Given the description of an element on the screen output the (x, y) to click on. 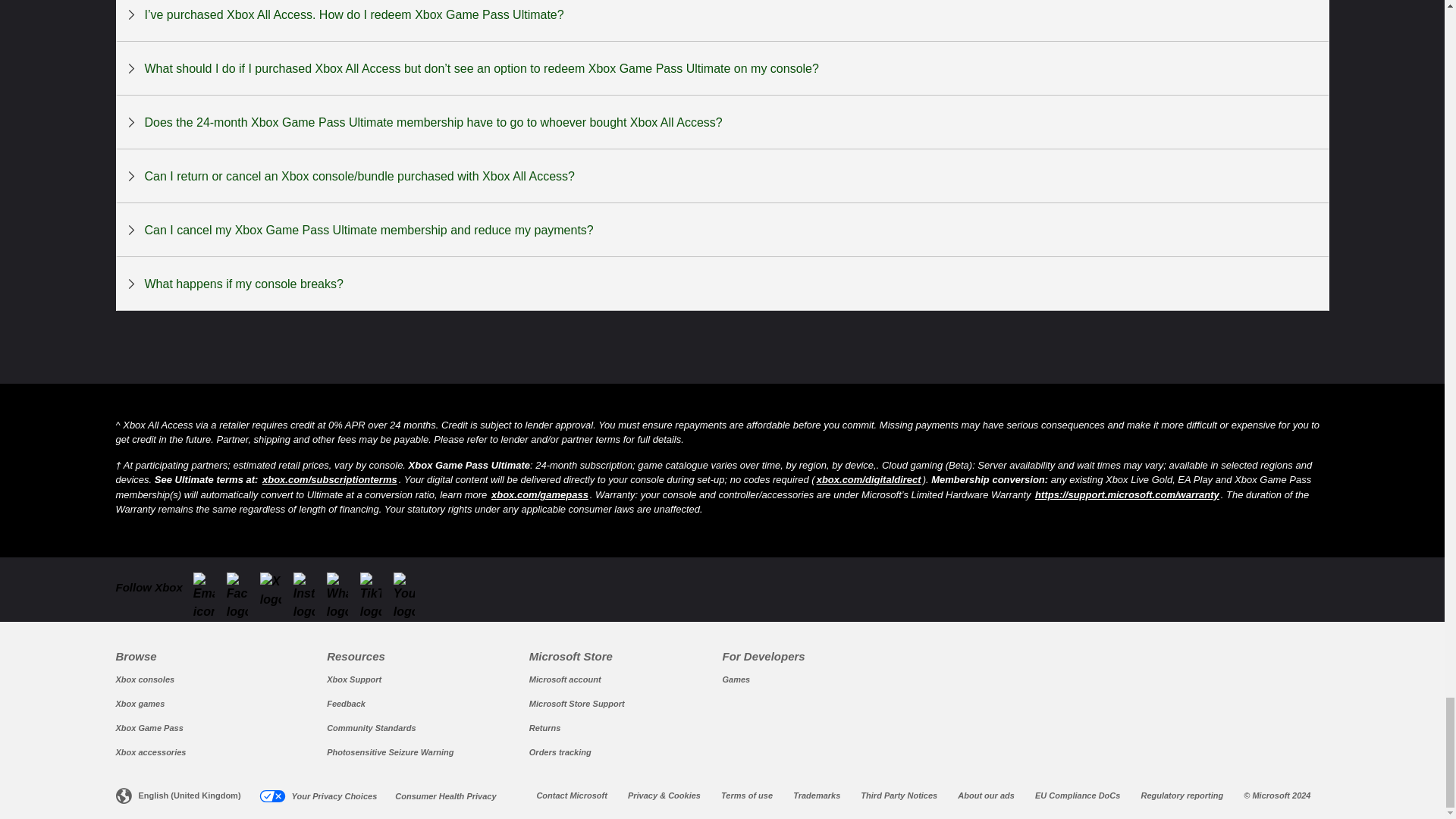
WhatsApp (341, 587)
Instagram (308, 587)
Email (208, 587)
Facebook (242, 587)
YouTube (408, 587)
X (275, 584)
TikTok (374, 587)
